Given the description of an element on the screen output the (x, y) to click on. 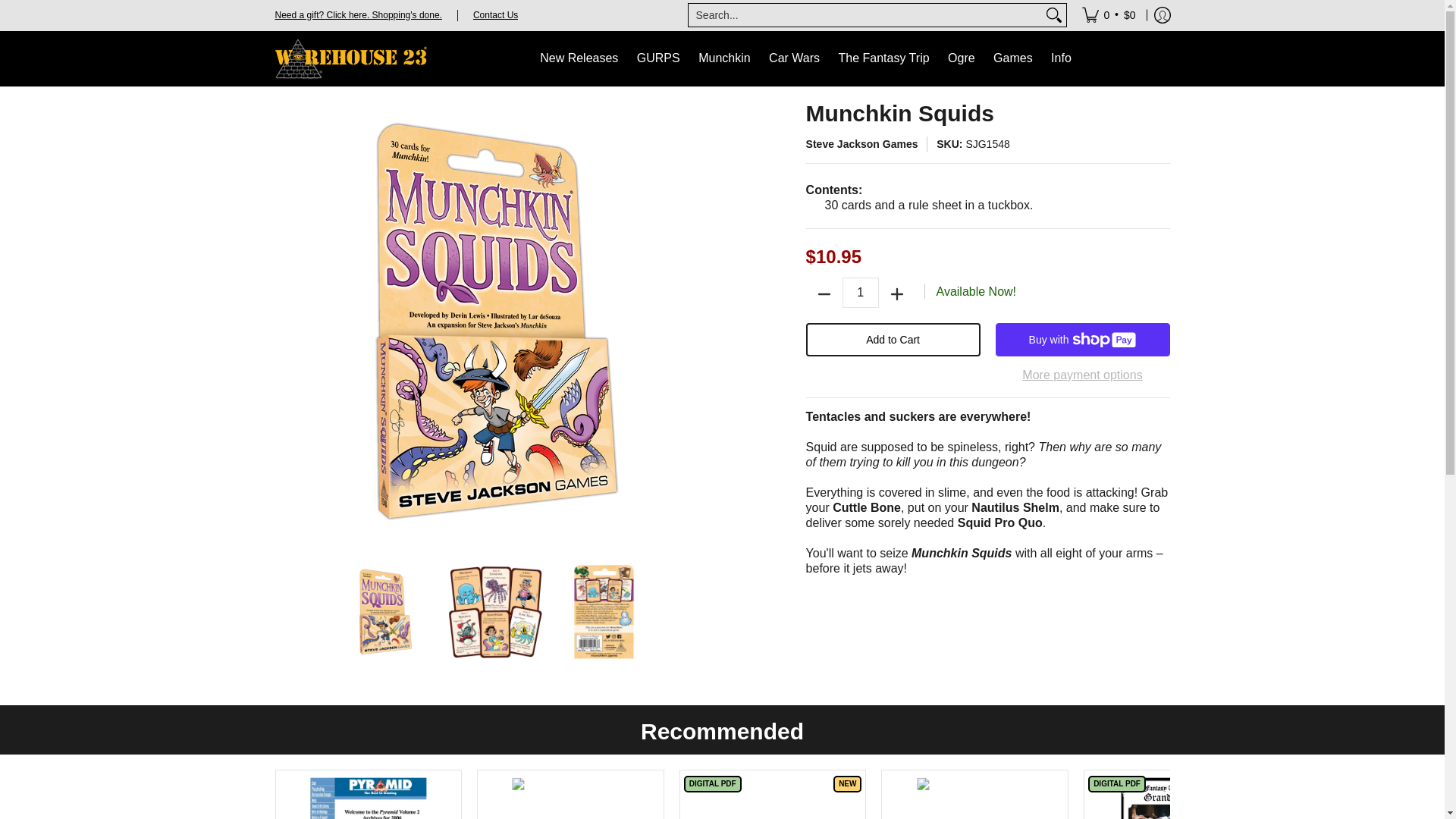
GURPS (657, 58)
Log in (1161, 15)
Munchkin (723, 58)
Warehouse 23 (350, 58)
Games (1013, 58)
1 (861, 292)
Car Wars (794, 58)
The Fantasy Trip (884, 58)
New Releases (579, 58)
Warehouse 23 Gift Certificate (358, 14)
Munchkin (723, 58)
Car Wars (794, 58)
Cart (1108, 15)
Contact Us (495, 14)
Games (1013, 58)
